Given the description of an element on the screen output the (x, y) to click on. 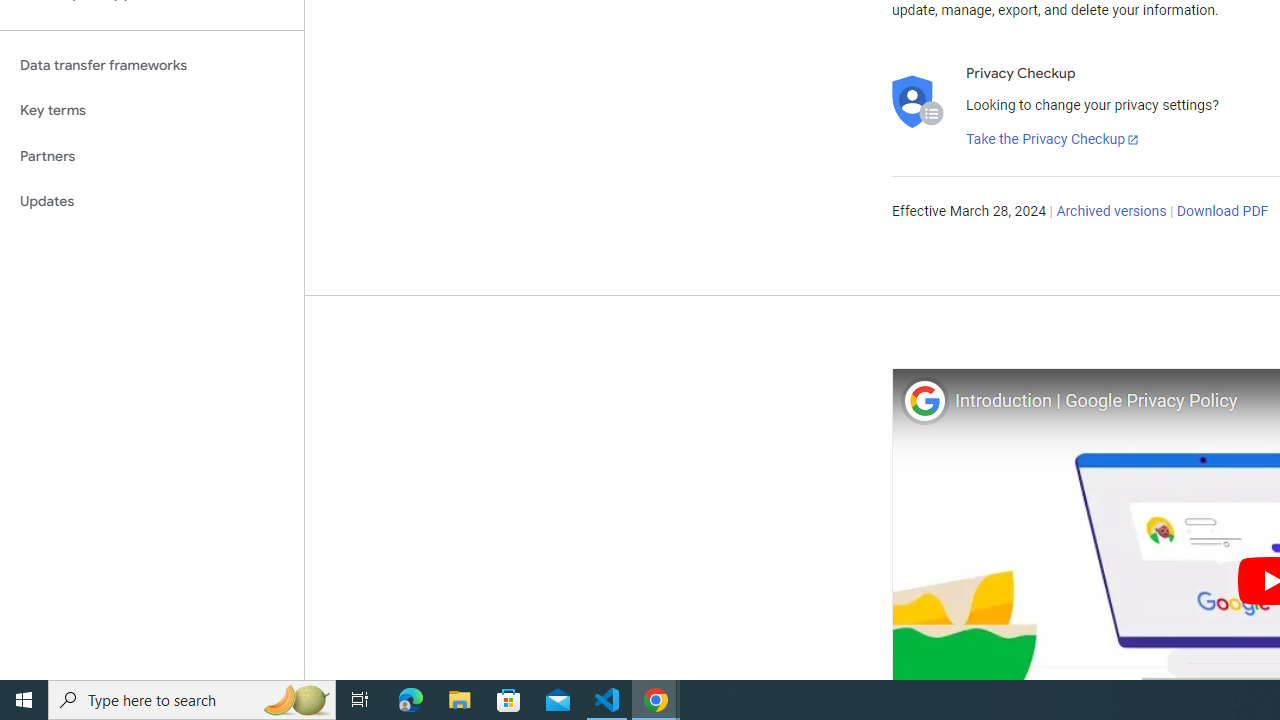
Take the Privacy Checkup (1053, 140)
Data transfer frameworks (152, 65)
Key terms (152, 110)
Partners (152, 156)
Photo image of Google (924, 400)
Download PDF (1222, 212)
Archived versions (1111, 212)
